Given the description of an element on the screen output the (x, y) to click on. 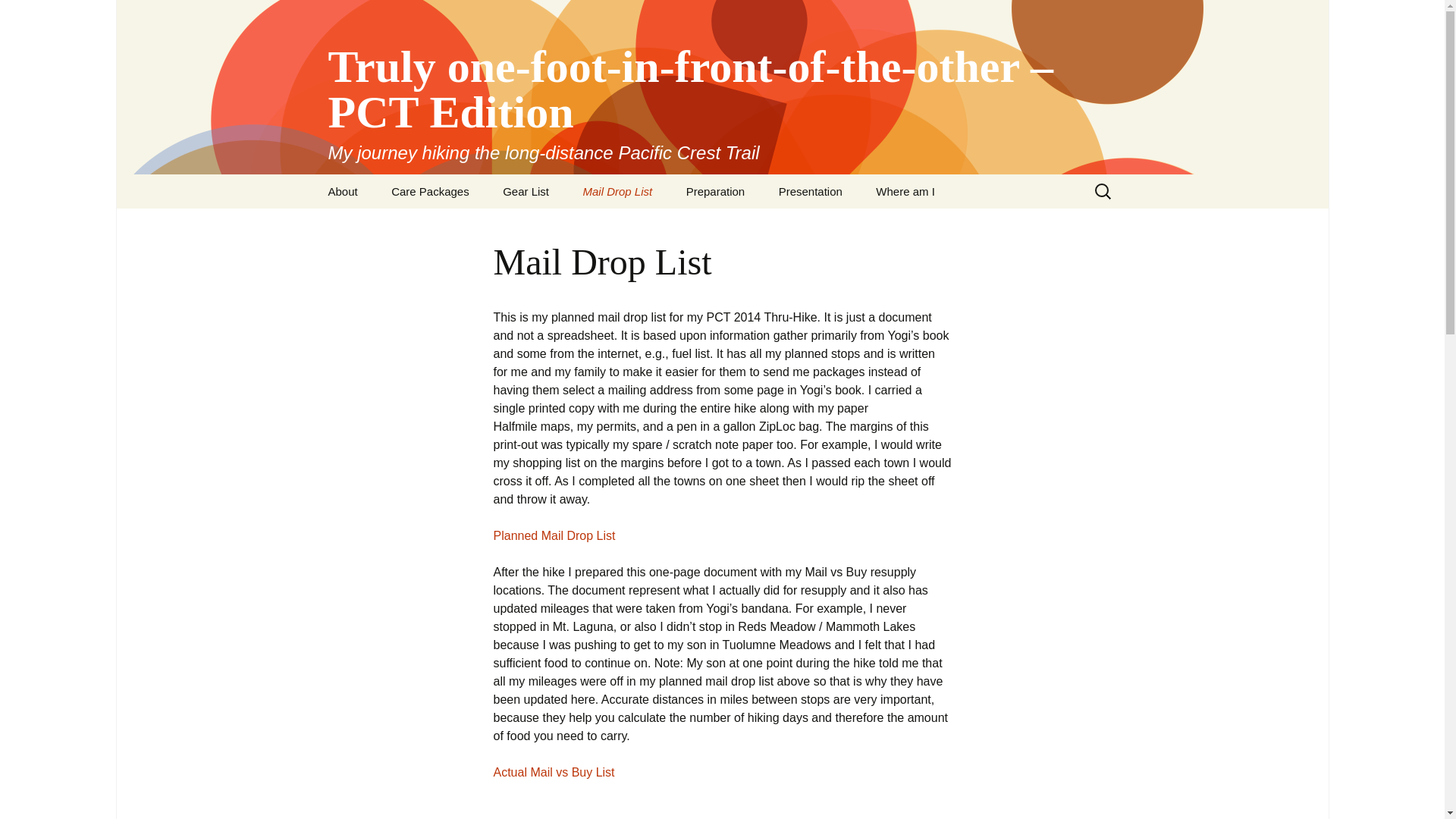
Actual Mail vs Buy List (553, 771)
Search (34, 15)
Mail Drop List (616, 191)
Planned Mail Drop List (553, 535)
Preparation (715, 191)
Gear List (525, 191)
Search (18, 15)
About (342, 191)
Presentation (809, 191)
Where am I (905, 191)
Care Packages (429, 191)
